Given the description of an element on the screen output the (x, y) to click on. 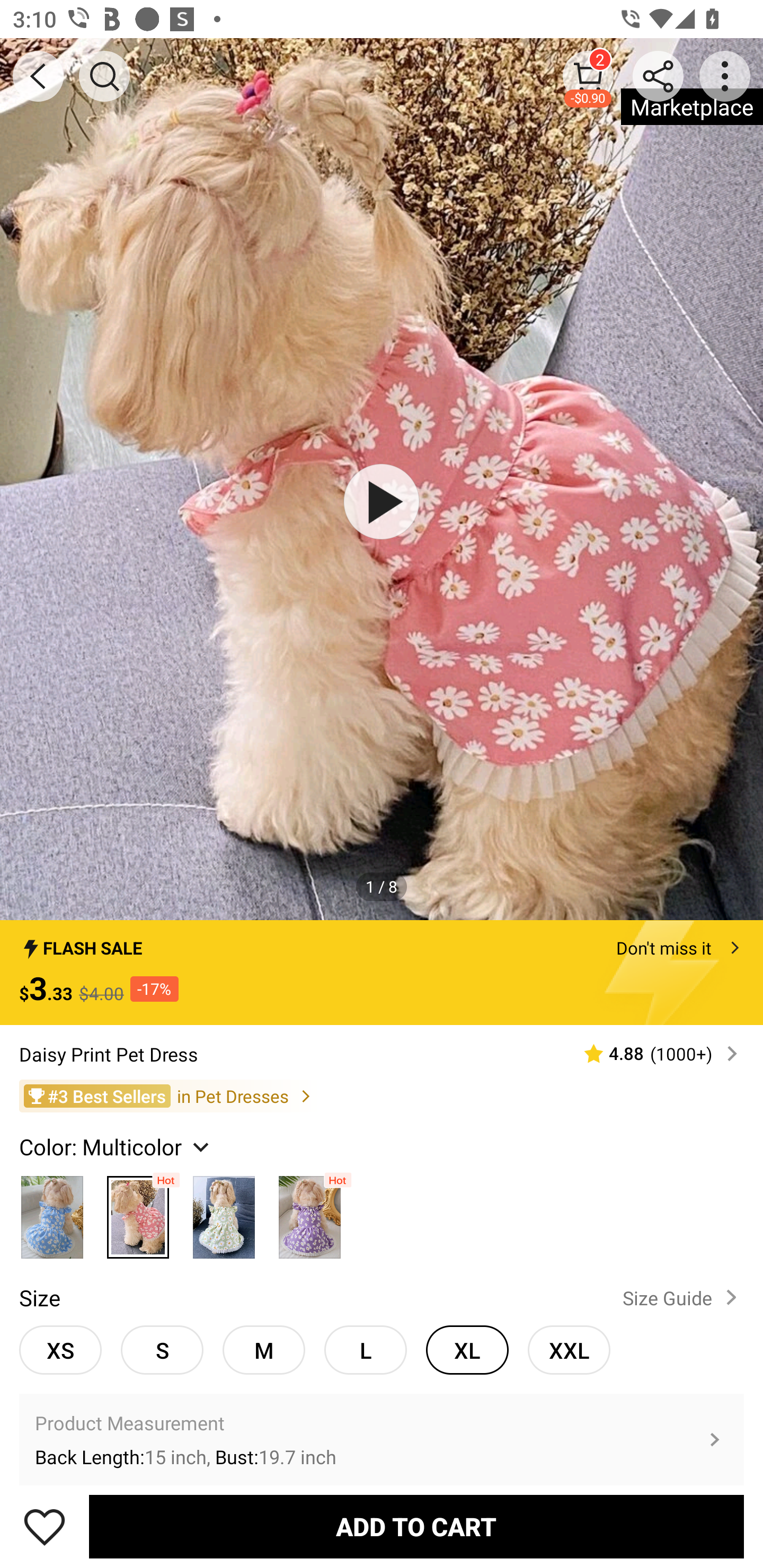
BACK (38, 75)
2 -$0.90 (588, 75)
1 / 8 (381, 885)
FLASH SALE Don't miss it $3.33 $4.00 -17% (381, 972)
FLASH SALE Don't miss it (381, 942)
4.88 (1000‎+) (653, 1053)
#3 Best Sellers in Pet Dresses (381, 1095)
Color: Multicolor (116, 1146)
Blue (52, 1212)
Multicolor (138, 1212)
Multicolor (224, 1212)
Purple (309, 1212)
Size (39, 1297)
Size Guide (682, 1297)
XS XSunselected option (60, 1349)
S Sunselected option (161, 1349)
M Munselected option (263, 1349)
L Lunselected option (365, 1349)
XL XLselected option (466, 1349)
XXL XXLunselected option (568, 1349)
ADD TO CART (416, 1526)
Save (44, 1526)
